Given the description of an element on the screen output the (x, y) to click on. 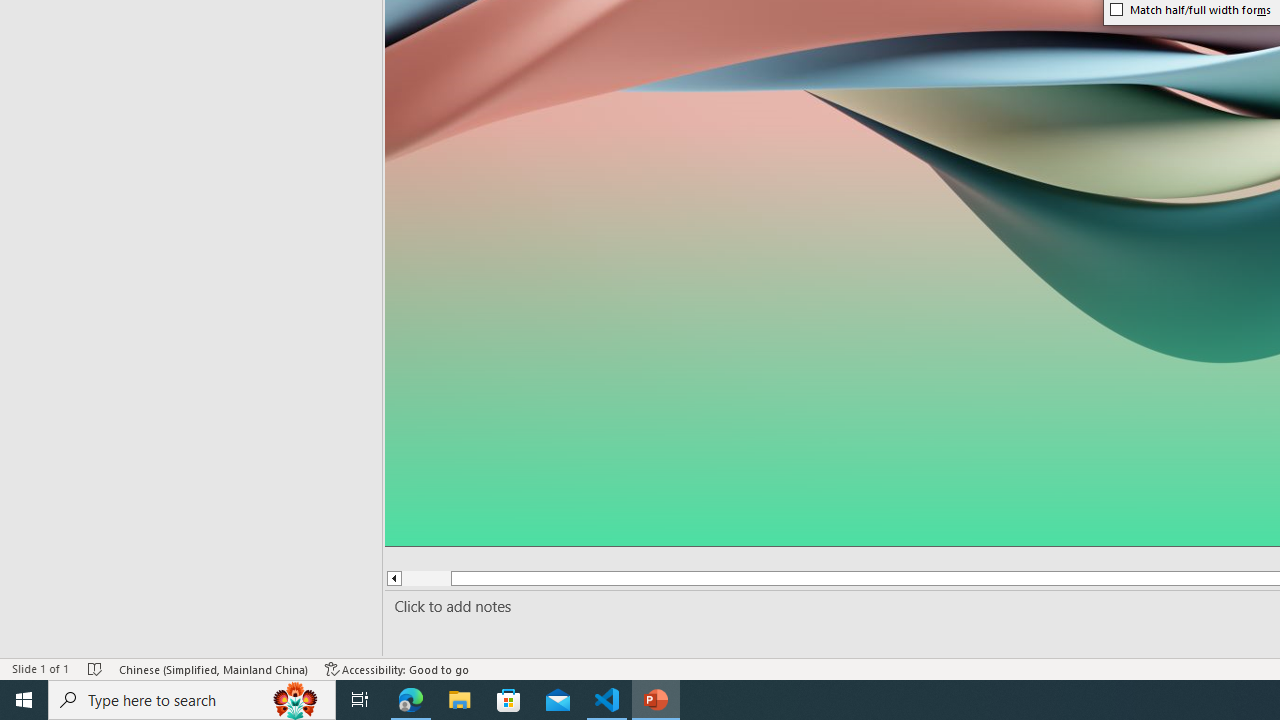
Accessibility Checker Accessibility: Good to go (397, 668)
Match half/full width forms (1191, 10)
Visual Studio Code - 1 running window (607, 699)
Start (24, 699)
Search highlights icon opens search home window (295, 699)
Microsoft Store (509, 699)
PowerPoint - 1 running window (656, 699)
Page up (425, 578)
Type here to search (191, 699)
Line up (393, 578)
Task View (359, 699)
File Explorer (460, 699)
Microsoft Edge - 1 running window (411, 699)
